Given the description of an element on the screen output the (x, y) to click on. 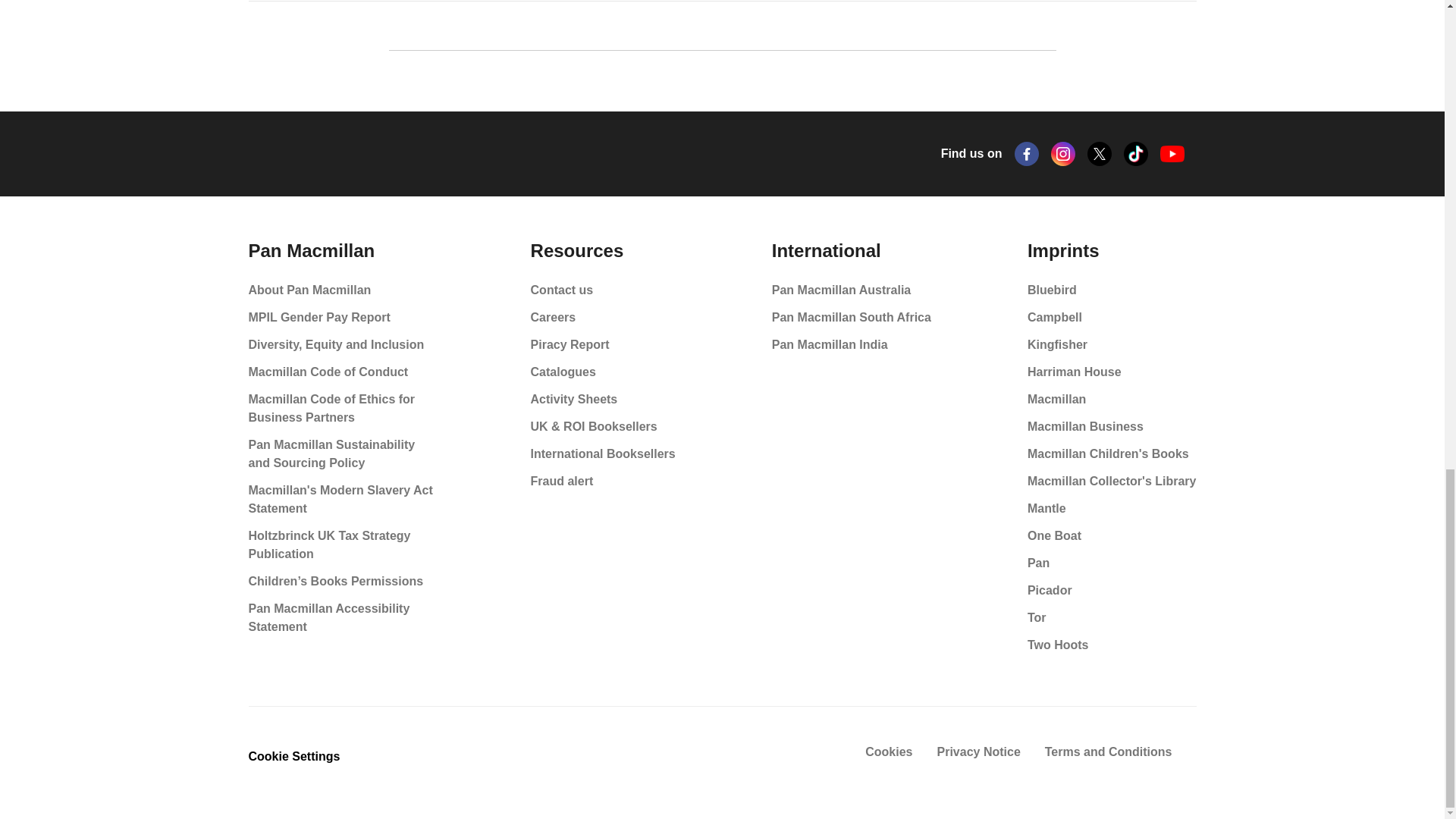
Facebook (1026, 153)
YouTube (1172, 153)
Instagram (1063, 153)
TikTok (1136, 153)
